Given the description of an element on the screen output the (x, y) to click on. 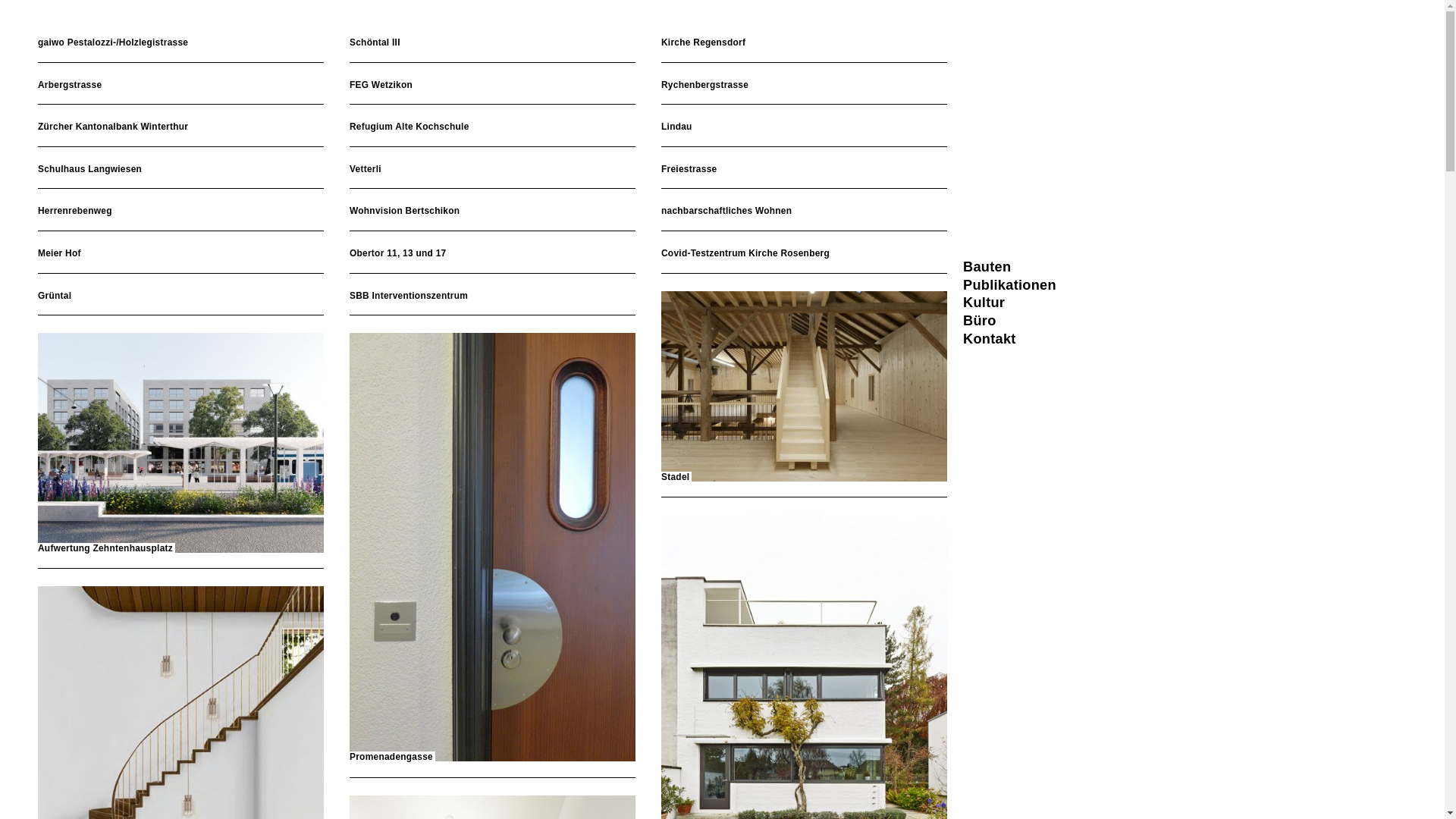
Wohnvision Bertschikon Element type: text (492, 211)
Freiestrasse Element type: text (804, 169)
Stadel Element type: text (804, 387)
Rychenbergstrasse Element type: text (804, 85)
gaiwo Pestalozzi-/Holzlegistrasse Element type: text (180, 42)
Promenadengasse Element type: text (492, 547)
Publikationen Element type: text (1009, 284)
Kultur Element type: text (983, 302)
Obertor 11, 13 und 17 Element type: text (492, 253)
Refugium Alte Kochschule Element type: text (492, 127)
Bauten Element type: text (986, 266)
Arbergstrasse Element type: text (180, 85)
Schulhaus Langwiesen Element type: text (180, 169)
FEG Wetzikon Element type: text (492, 85)
Covid-Testzentrum Kirche Rosenberg Element type: text (804, 253)
Lindau Element type: text (804, 127)
SBB Interventionszentrum Element type: text (492, 296)
Kontakt Element type: text (989, 338)
nachbarschaftliches Wohnen Element type: text (804, 211)
Meier Hof Element type: text (180, 253)
Aufwertung Zehntenhausplatz Element type: text (180, 443)
Vetterli Element type: text (492, 169)
Herrenrebenweg Element type: text (180, 211)
Kirche Regensdorf Element type: text (804, 42)
